Given the description of an element on the screen output the (x, y) to click on. 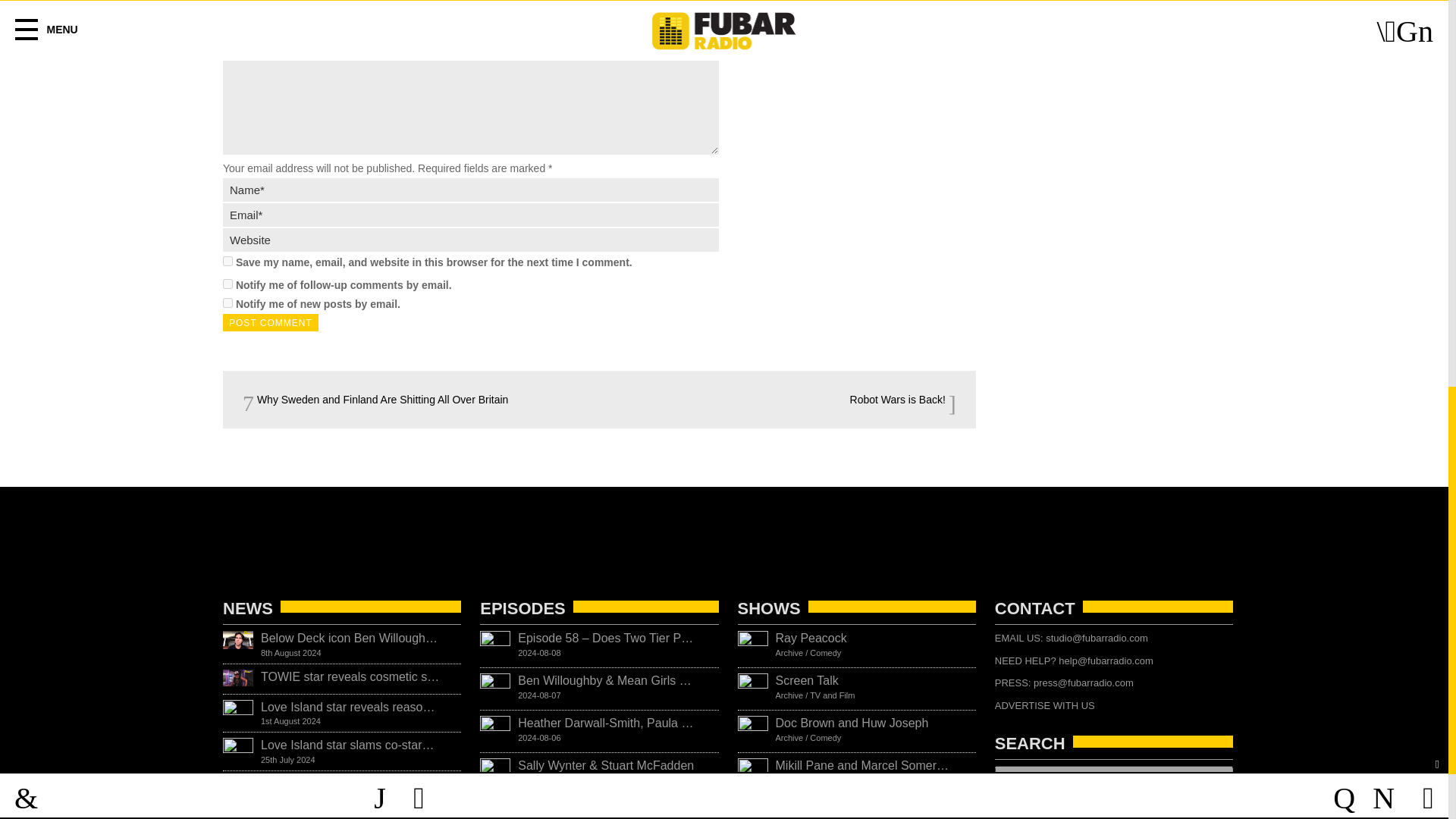
ADVERTISE WITH US (1044, 705)
subscribe (227, 302)
See all (756, 808)
subscribe (227, 284)
See all (500, 808)
Why Sweden and Finland Are Shitting All Over Britain (375, 399)
yes (227, 261)
Robot Wars is Back! (903, 399)
